Given the description of an element on the screen output the (x, y) to click on. 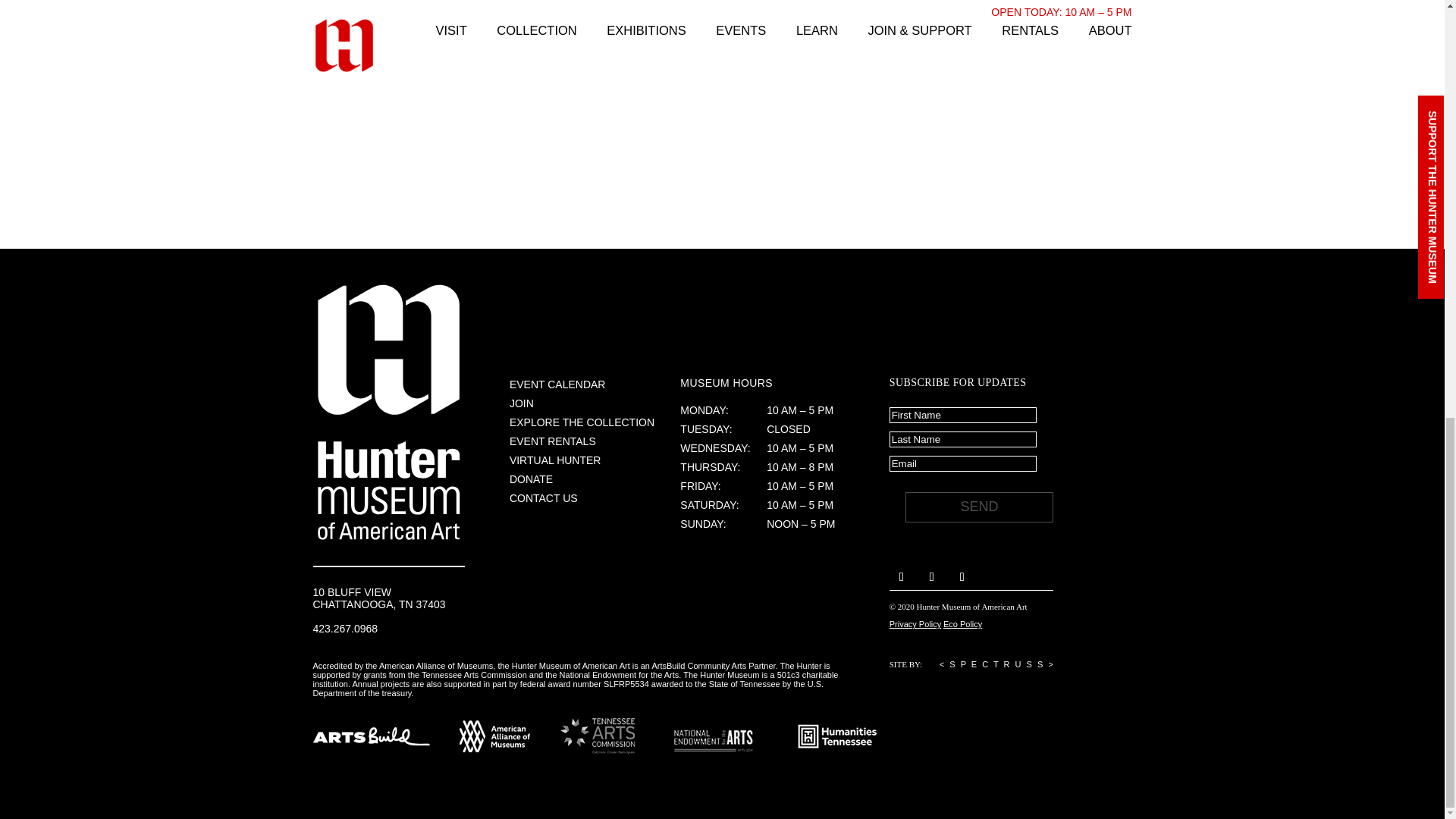
Instagram (931, 576)
Youtube (962, 576)
Facebook (901, 576)
SEND (978, 507)
